Given the description of an element on the screen output the (x, y) to click on. 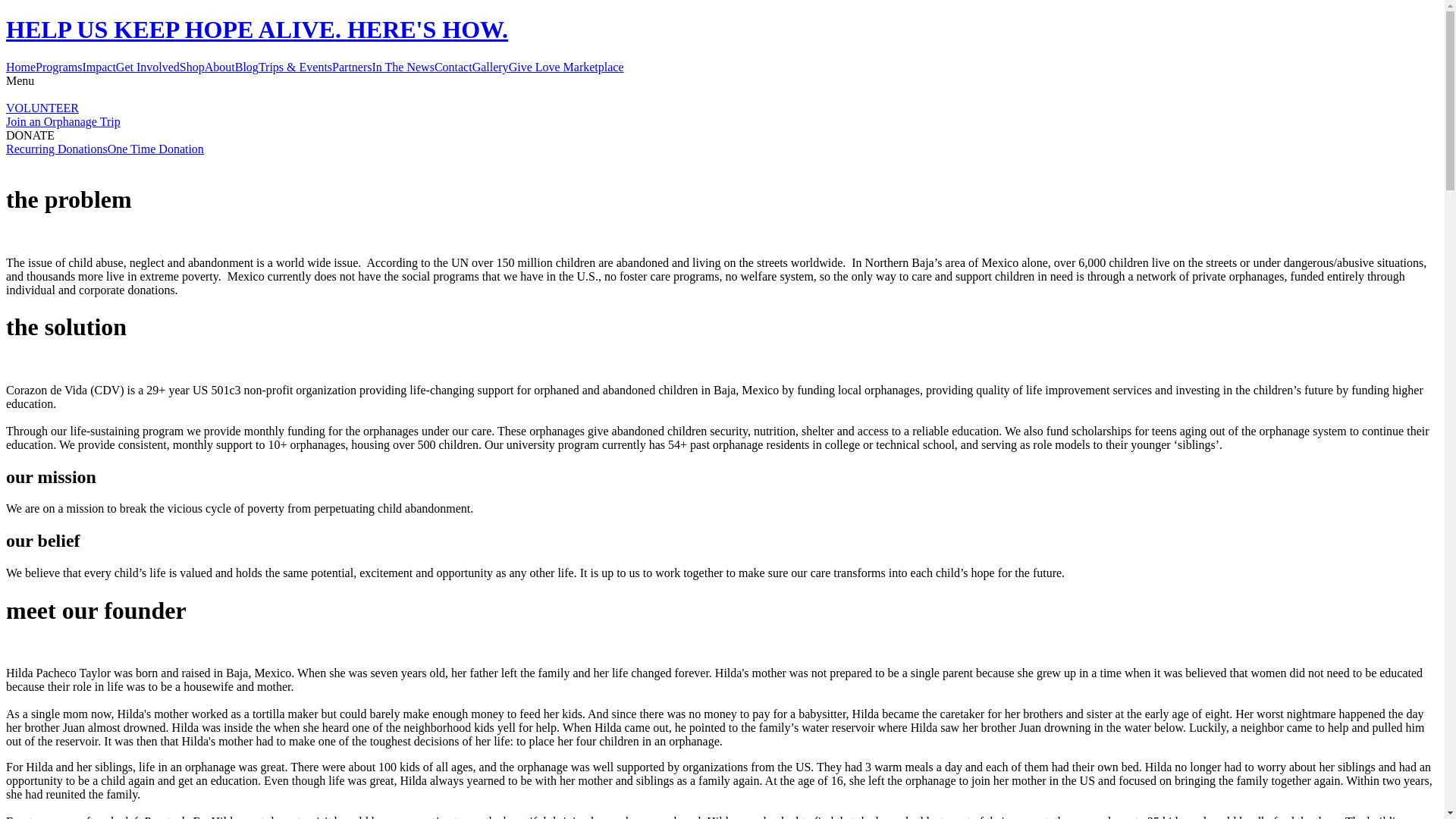
Shop (192, 66)
Home (19, 66)
One Time Donation (155, 148)
Recurring Donations (56, 148)
Contact (452, 66)
In The News (402, 66)
Impact (98, 66)
Gallery (489, 66)
Programs (57, 66)
